Given the description of an element on the screen output the (x, y) to click on. 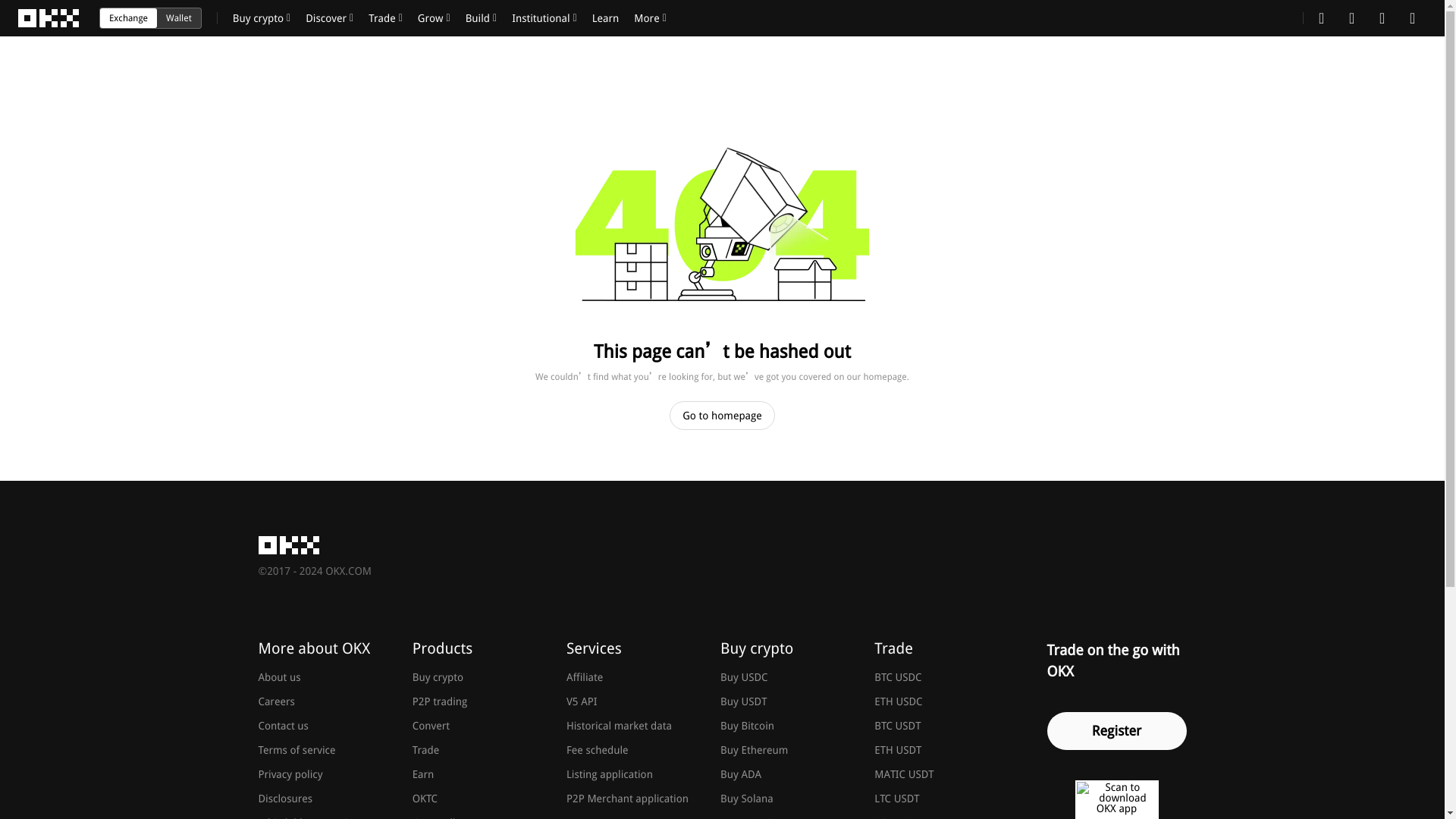
Wallet (178, 17)
OKX (48, 17)
Exchange (128, 17)
